Given the description of an element on the screen output the (x, y) to click on. 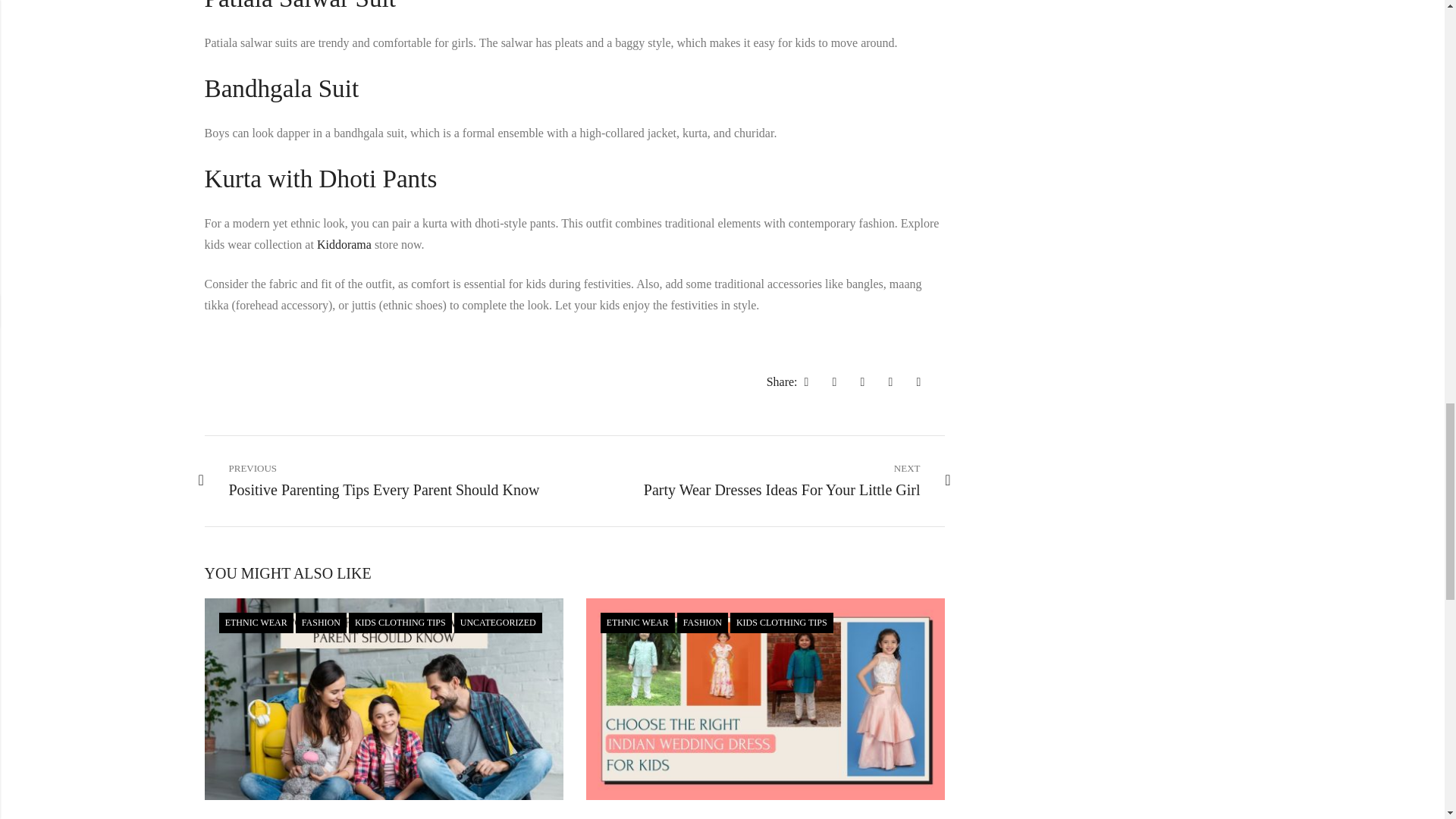
Kiddorama (344, 244)
